Given the description of an element on the screen output the (x, y) to click on. 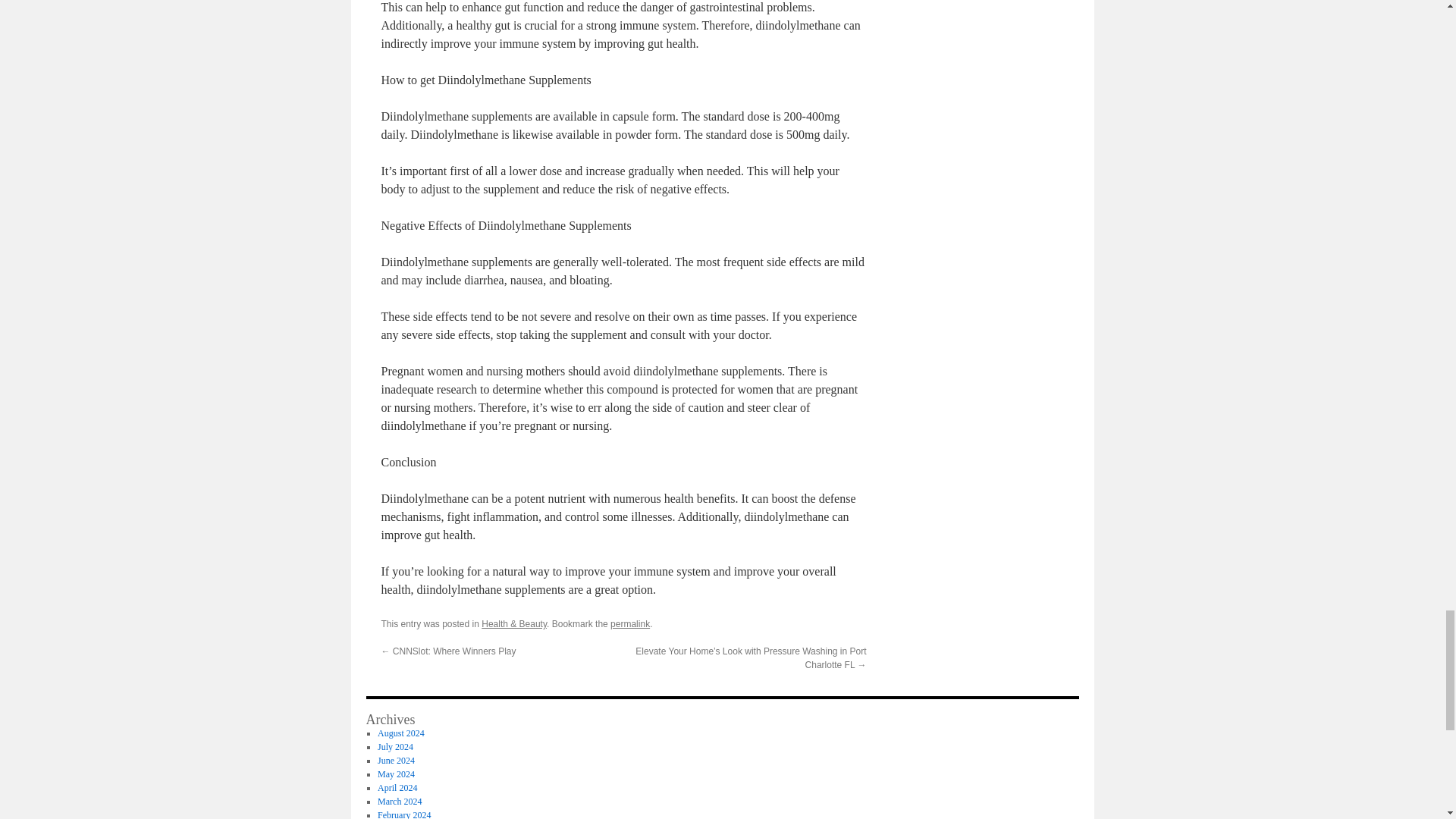
February 2024 (403, 814)
August 2024 (401, 733)
July 2024 (395, 747)
June 2024 (395, 760)
May 2024 (395, 774)
permalink (629, 624)
March 2024 (399, 801)
April 2024 (396, 787)
